Given the description of an element on the screen output the (x, y) to click on. 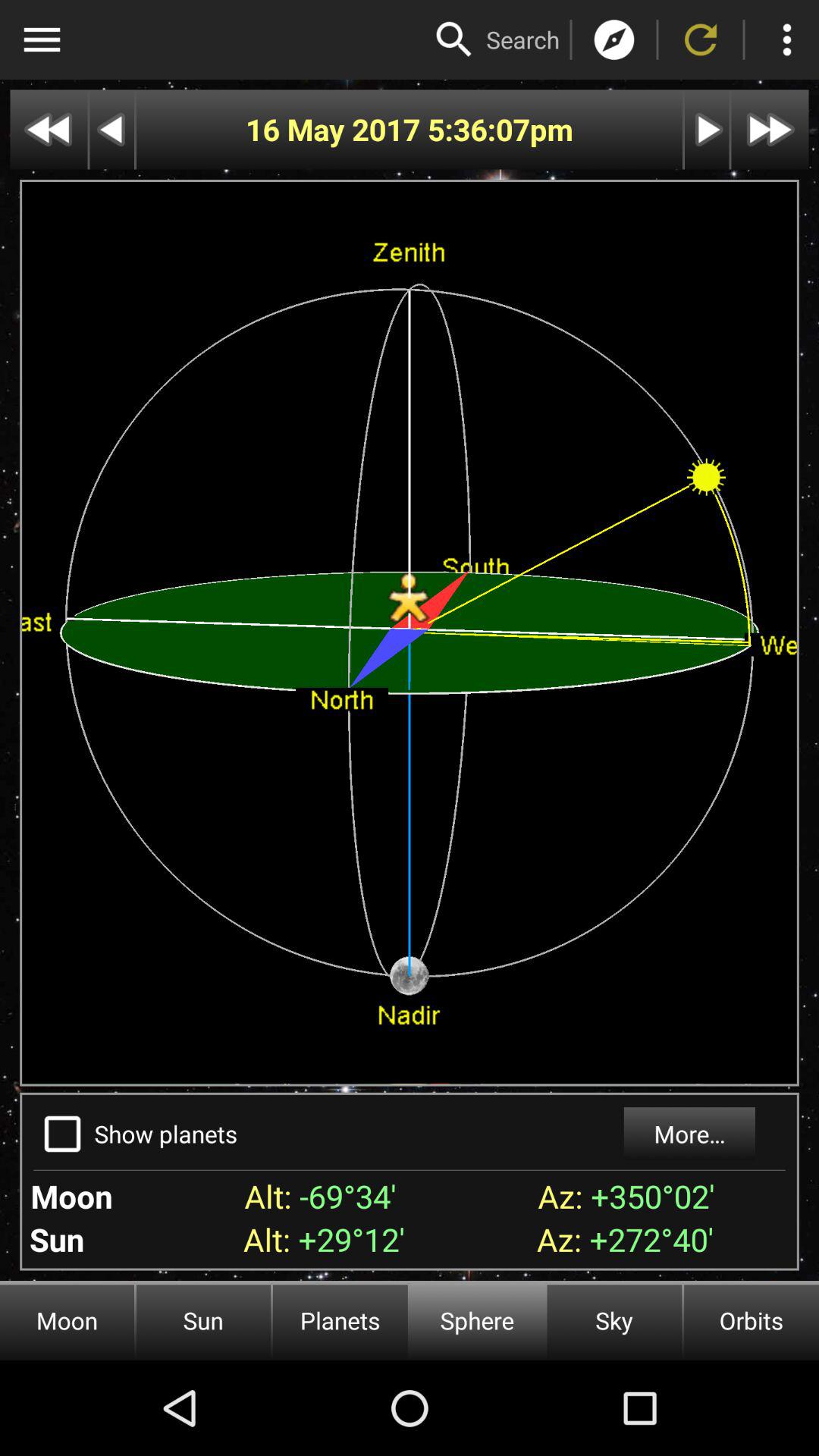
predecessor (111, 129)
